Given the description of an element on the screen output the (x, y) to click on. 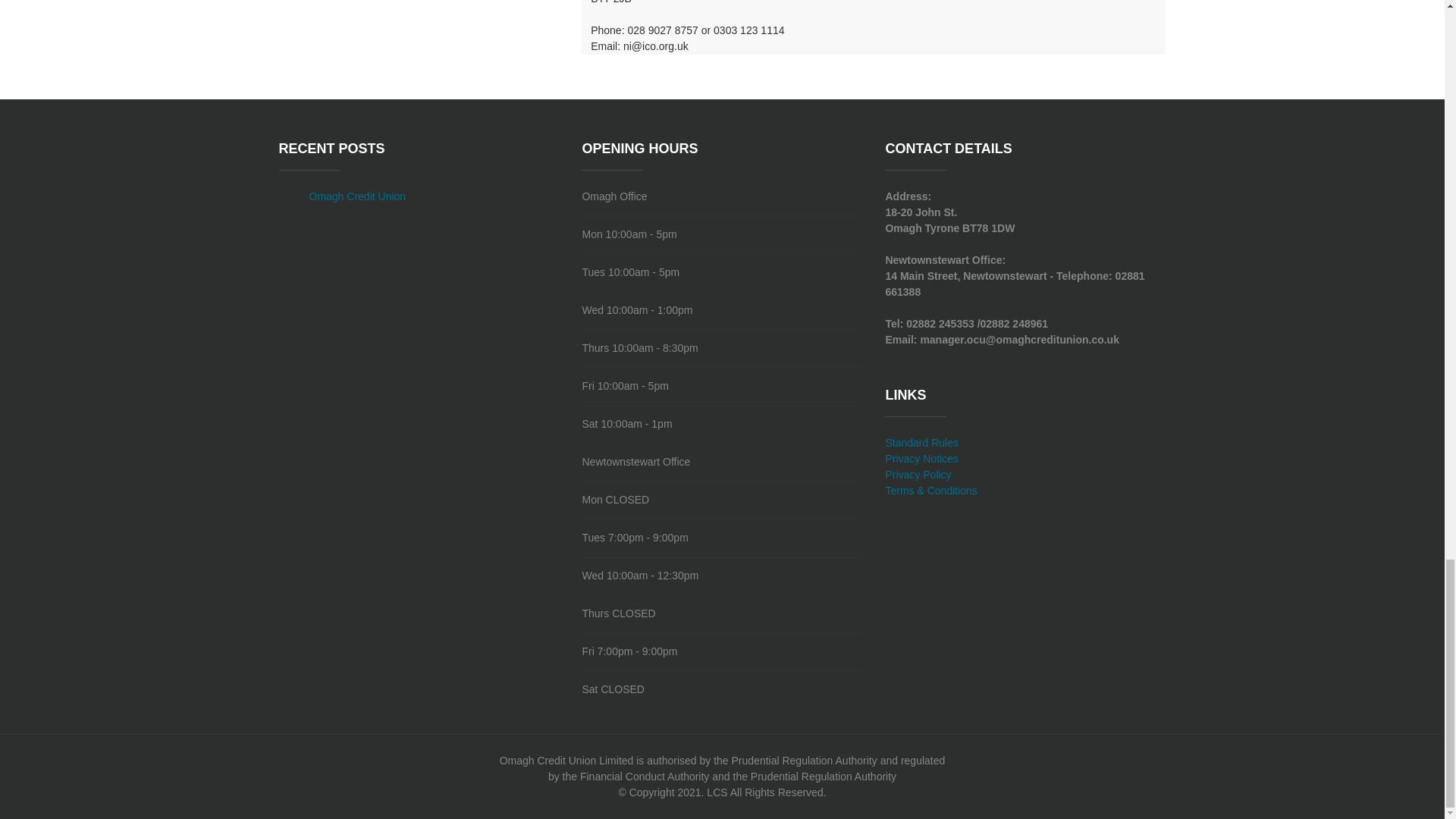
Privacy Policy (917, 474)
Standard Rules (921, 442)
Omagh Credit Union (357, 196)
Privacy Notices (921, 458)
